Given the description of an element on the screen output the (x, y) to click on. 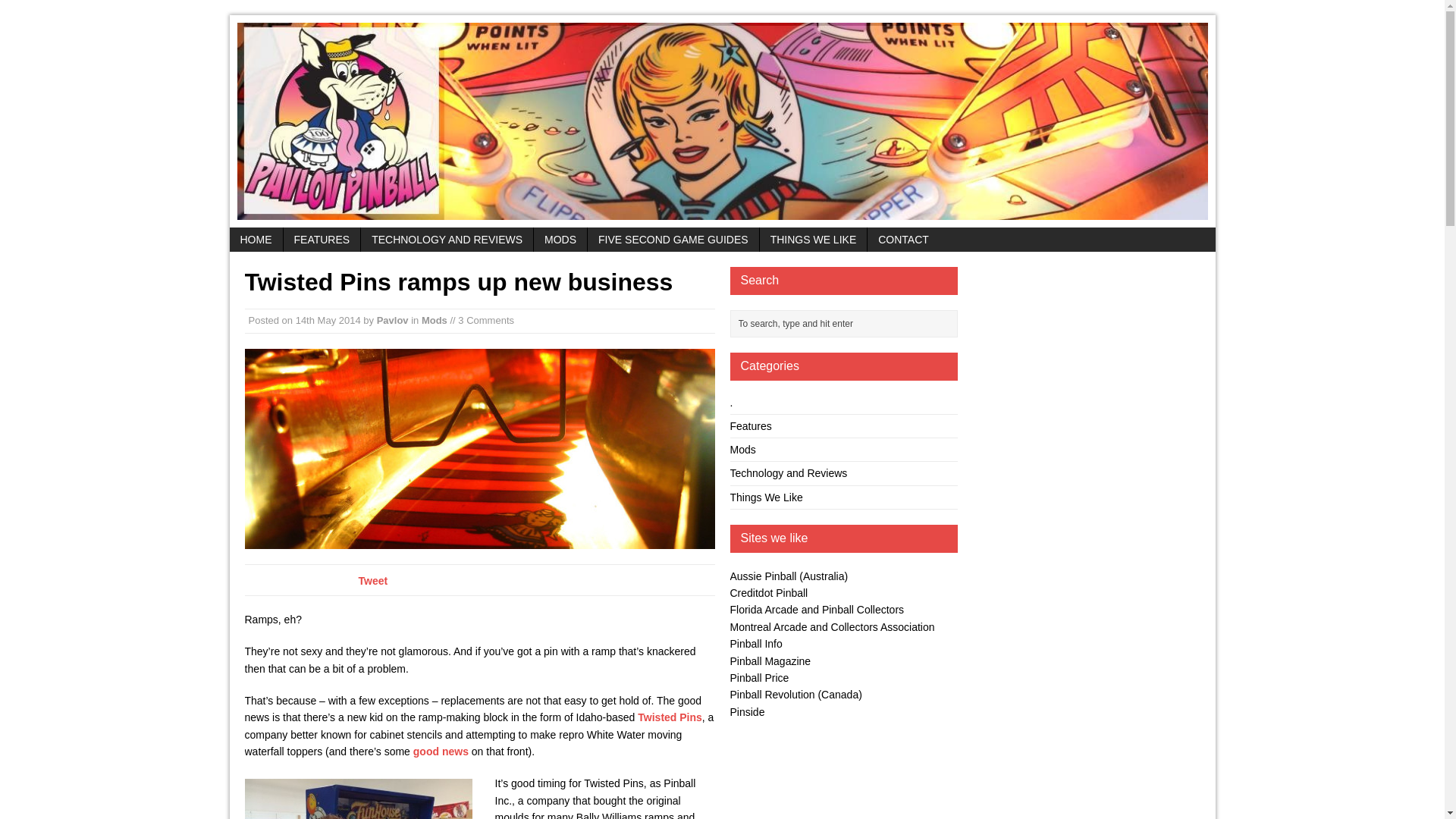
To search, type and hit enter (846, 323)
The largest pinball sales database on the planet (759, 677)
MODS (560, 239)
FEATURES (322, 239)
WH20 repro topper update (440, 751)
Twisted Pins (669, 717)
FIVE SECOND GAME GUIDES (673, 239)
Pavlov (393, 319)
Technology and Reviews (788, 472)
